Given the description of an element on the screen output the (x, y) to click on. 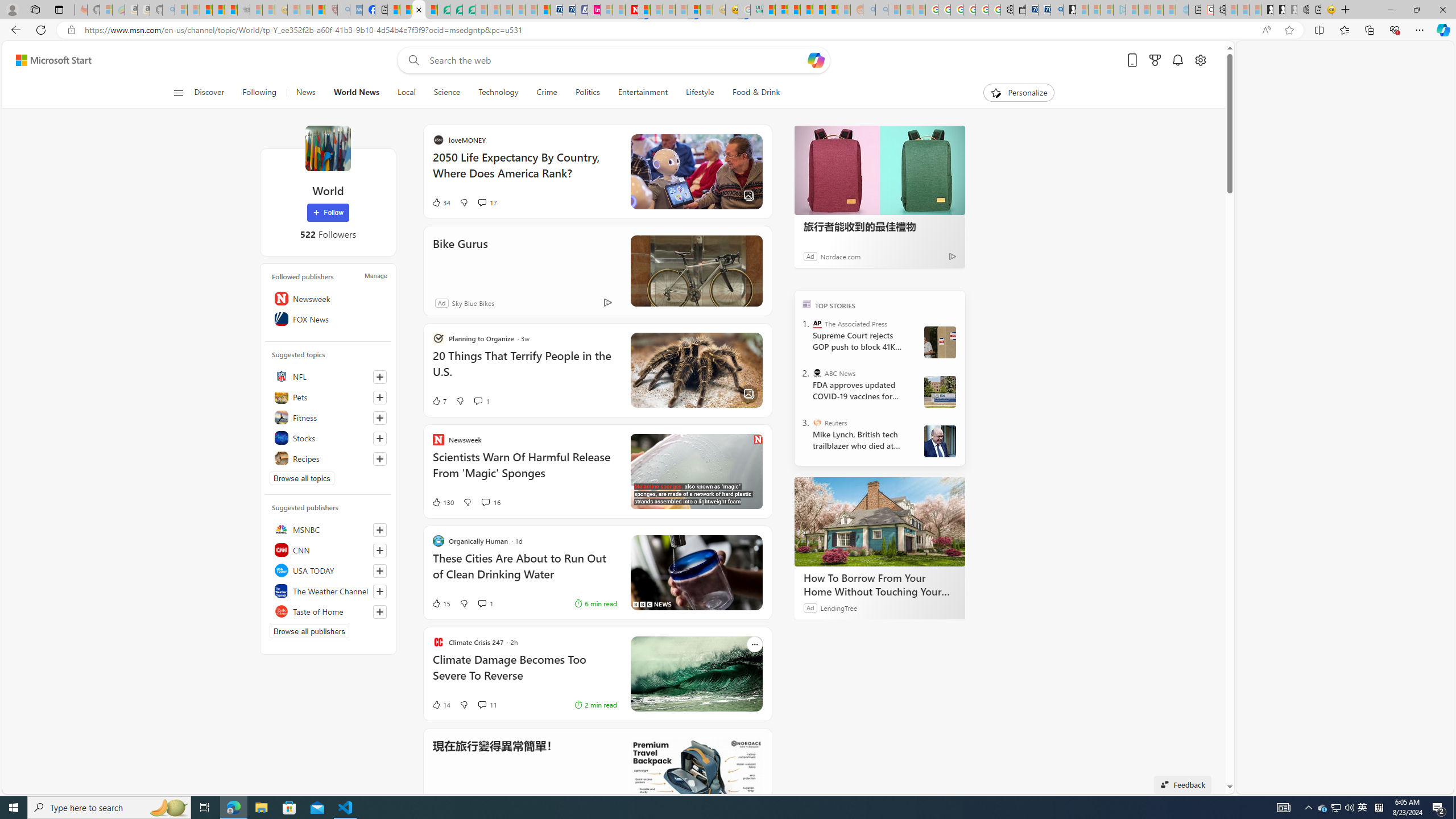
View comments 11 Comment (487, 704)
Expert Portfolios (806, 9)
CNN (327, 549)
